Given the description of an element on the screen output the (x, y) to click on. 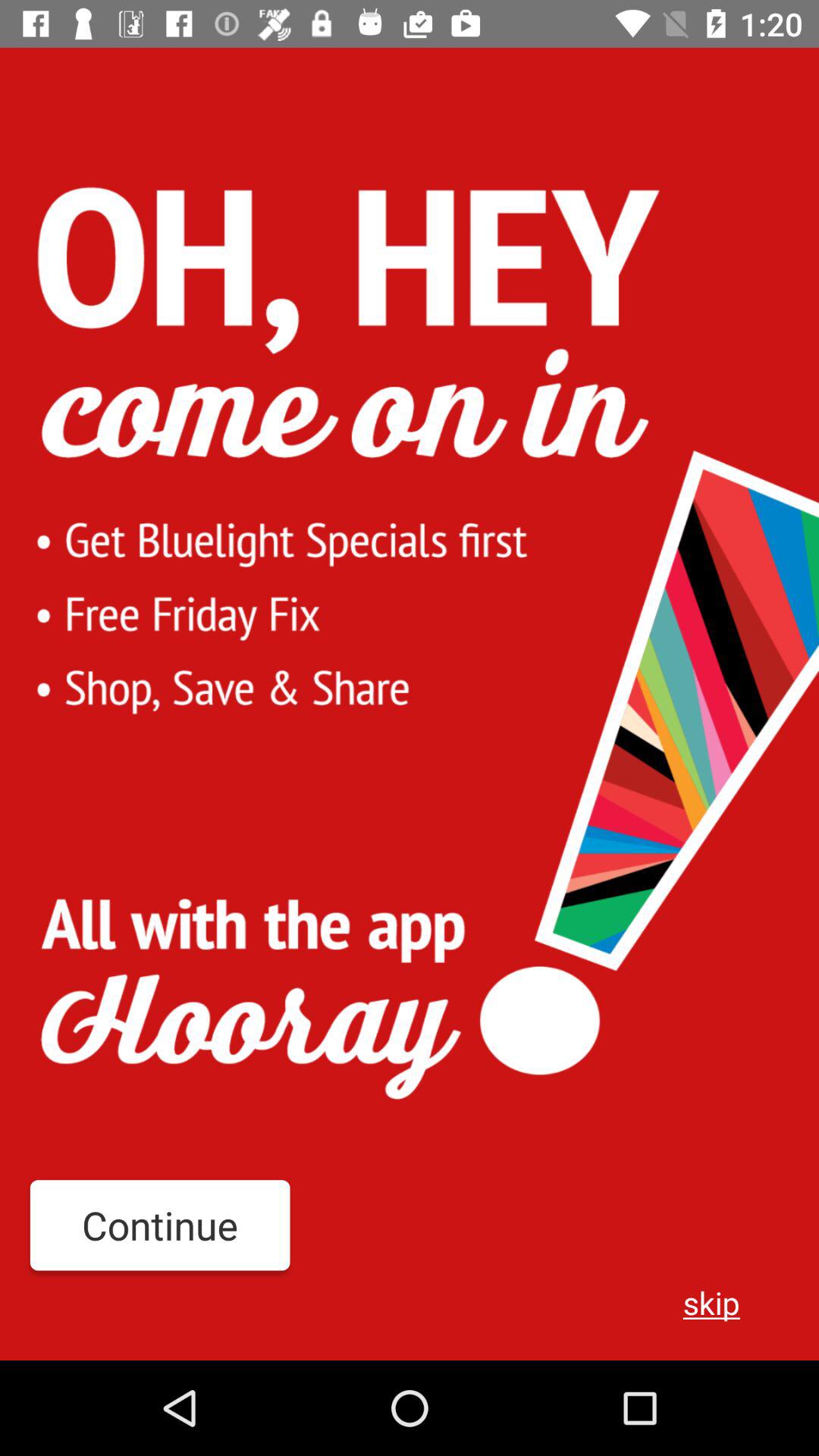
click the skip icon (711, 1302)
